Given the description of an element on the screen output the (x, y) to click on. 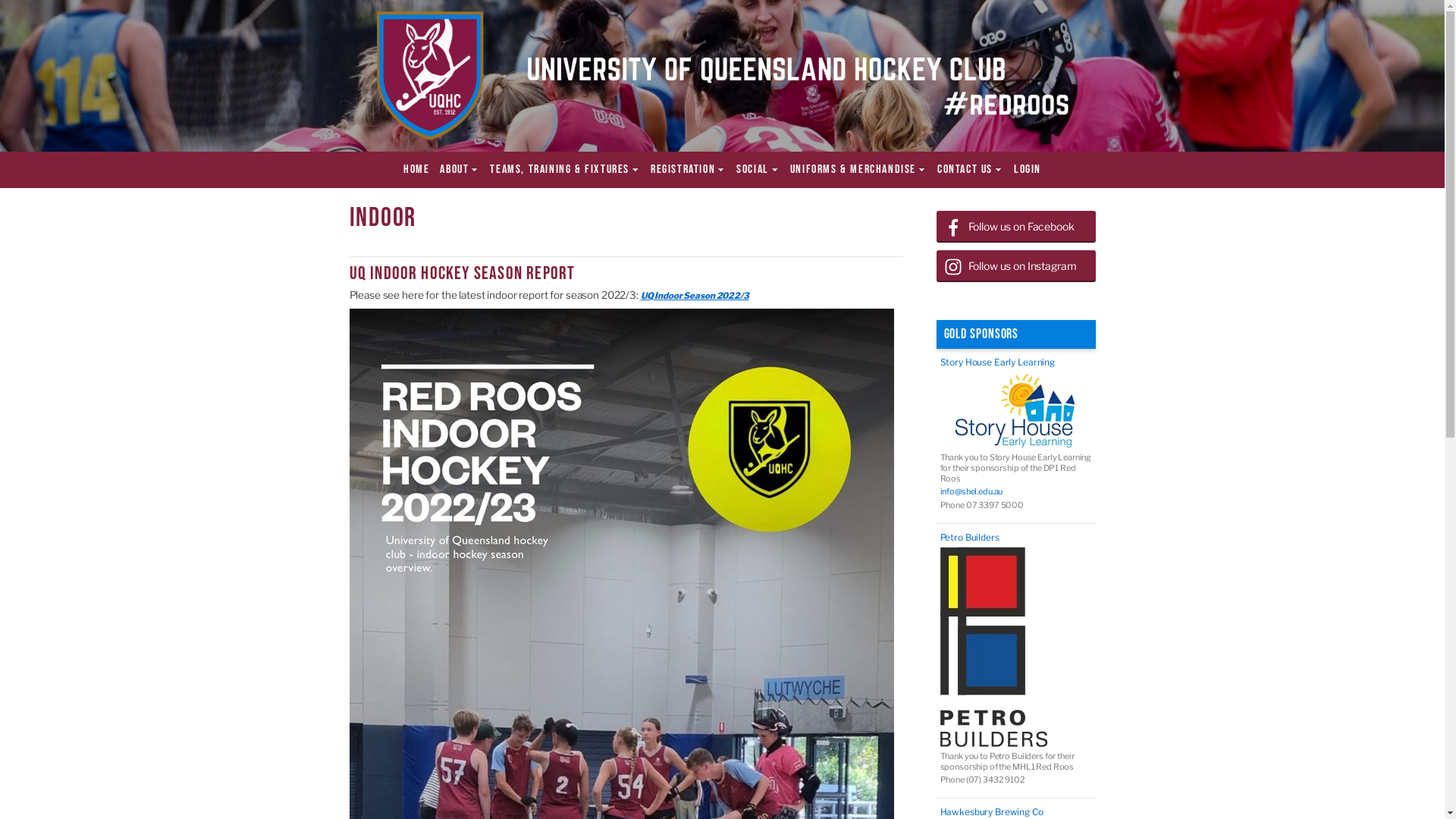
Petro Builders Element type: text (1016, 537)
SOCIAL Element type: text (757, 169)
Follow us on Instagram Element type: text (1015, 266)
Follow us on Facebook Element type: text (1015, 226)
Hawkesbury Brewing Co Element type: text (1016, 812)
info@shel.edu.au Element type: text (1016, 492)
Story House Early Learning Element type: text (1016, 362)
TEAMS, TRAINING & FIXTURES Element type: text (564, 169)
CONTACT US Element type: text (969, 169)
REGISTRATION Element type: text (688, 169)
UQ Indoor Season 2022/3 Element type: text (694, 295)
UNIFORMS & MERCHANDISE Element type: text (857, 169)
LOGIN Element type: text (1027, 169)
ABOUT Element type: text (459, 169)
HOME Element type: text (416, 169)
